Given the description of an element on the screen output the (x, y) to click on. 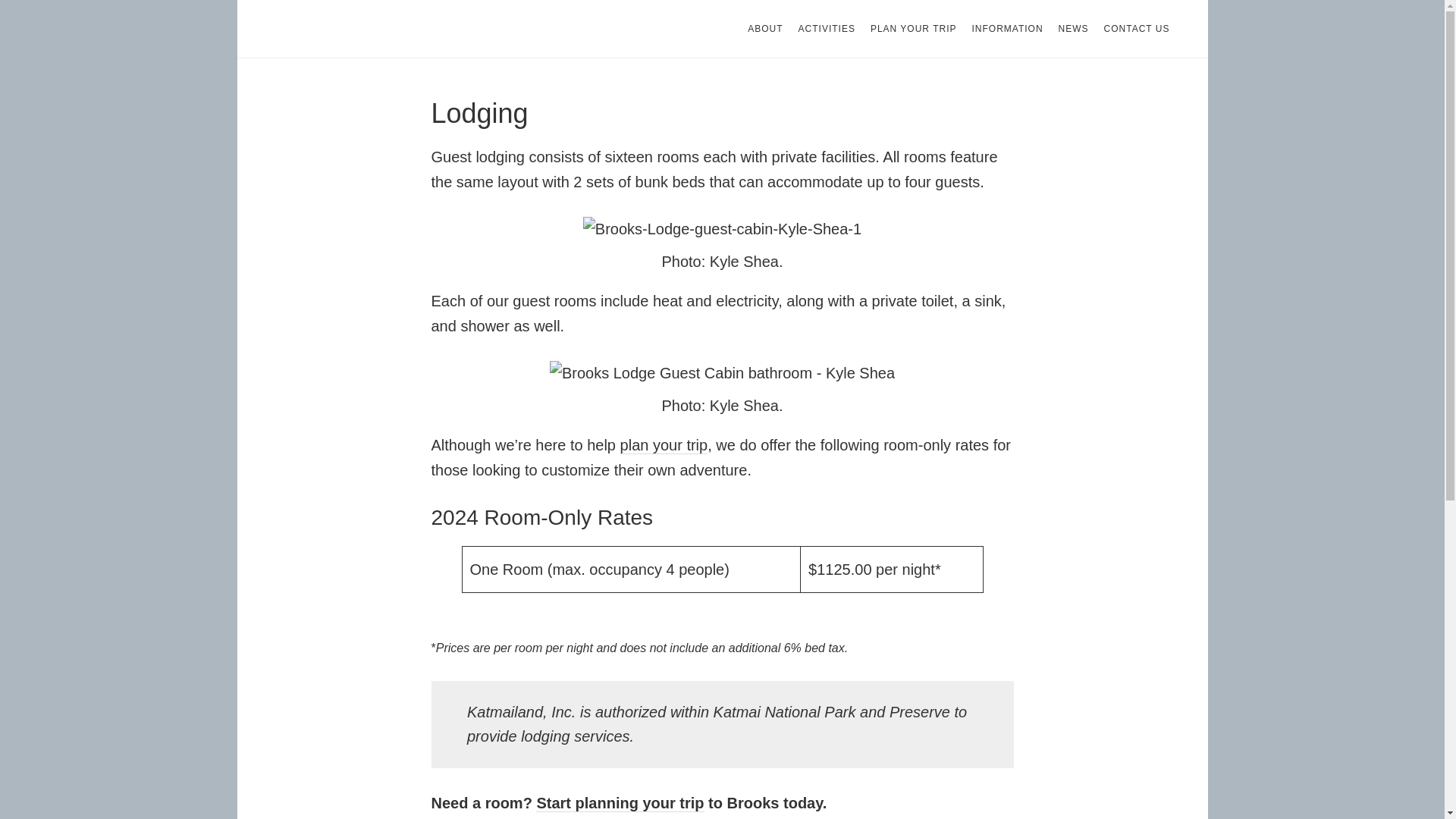
Start planning your trip (619, 803)
ABOUT (764, 28)
INFORMATION (1006, 28)
NEWS (1073, 28)
CONTACT US (1136, 28)
plan your trip (663, 445)
PLAN YOUR TRIP (913, 28)
ACTIVITIES (826, 28)
BROOKS LODGE (380, 28)
